Given the description of an element on the screen output the (x, y) to click on. 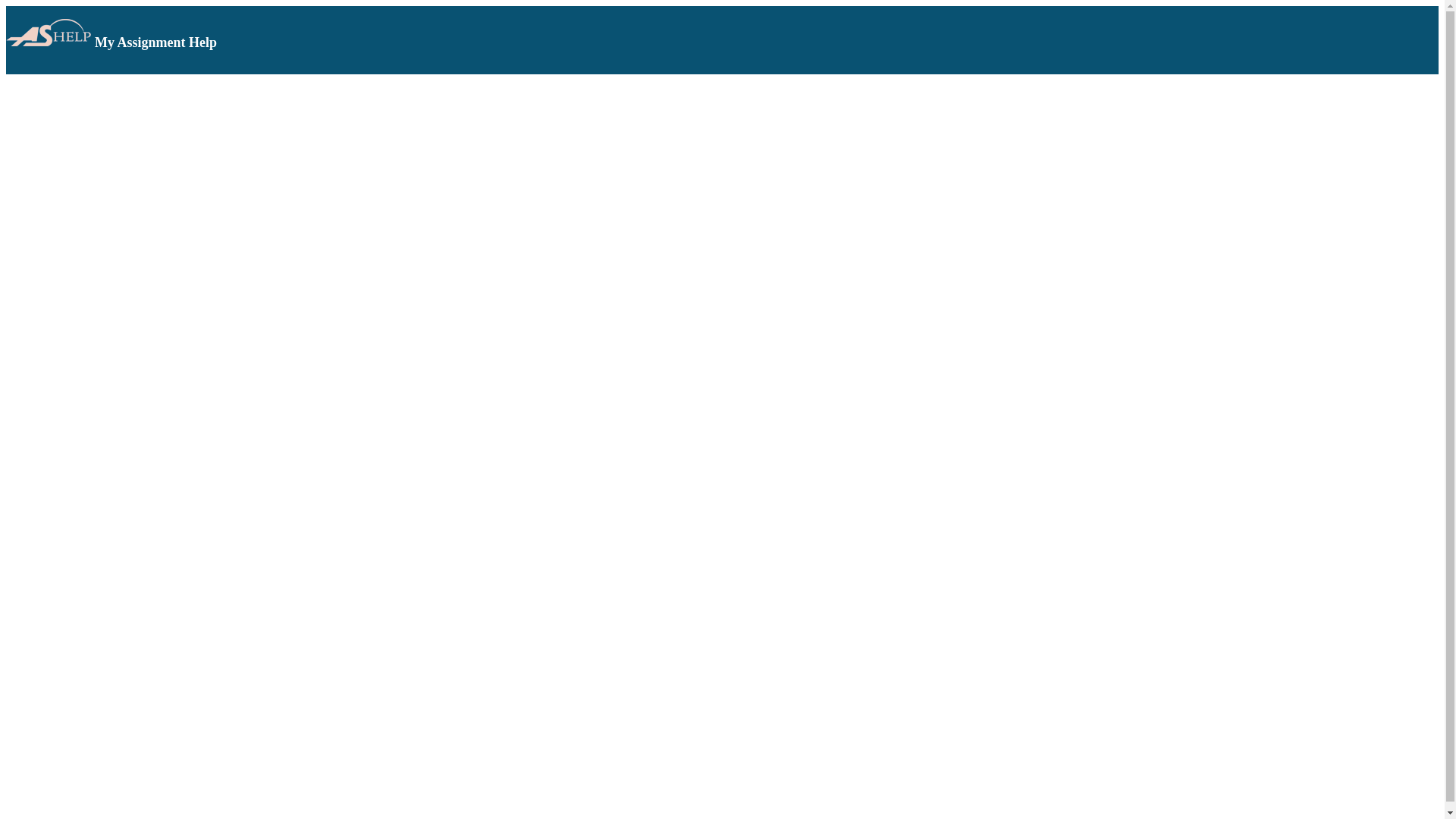
My Assignment Help (49, 31)
